Given the description of an element on the screen output the (x, y) to click on. 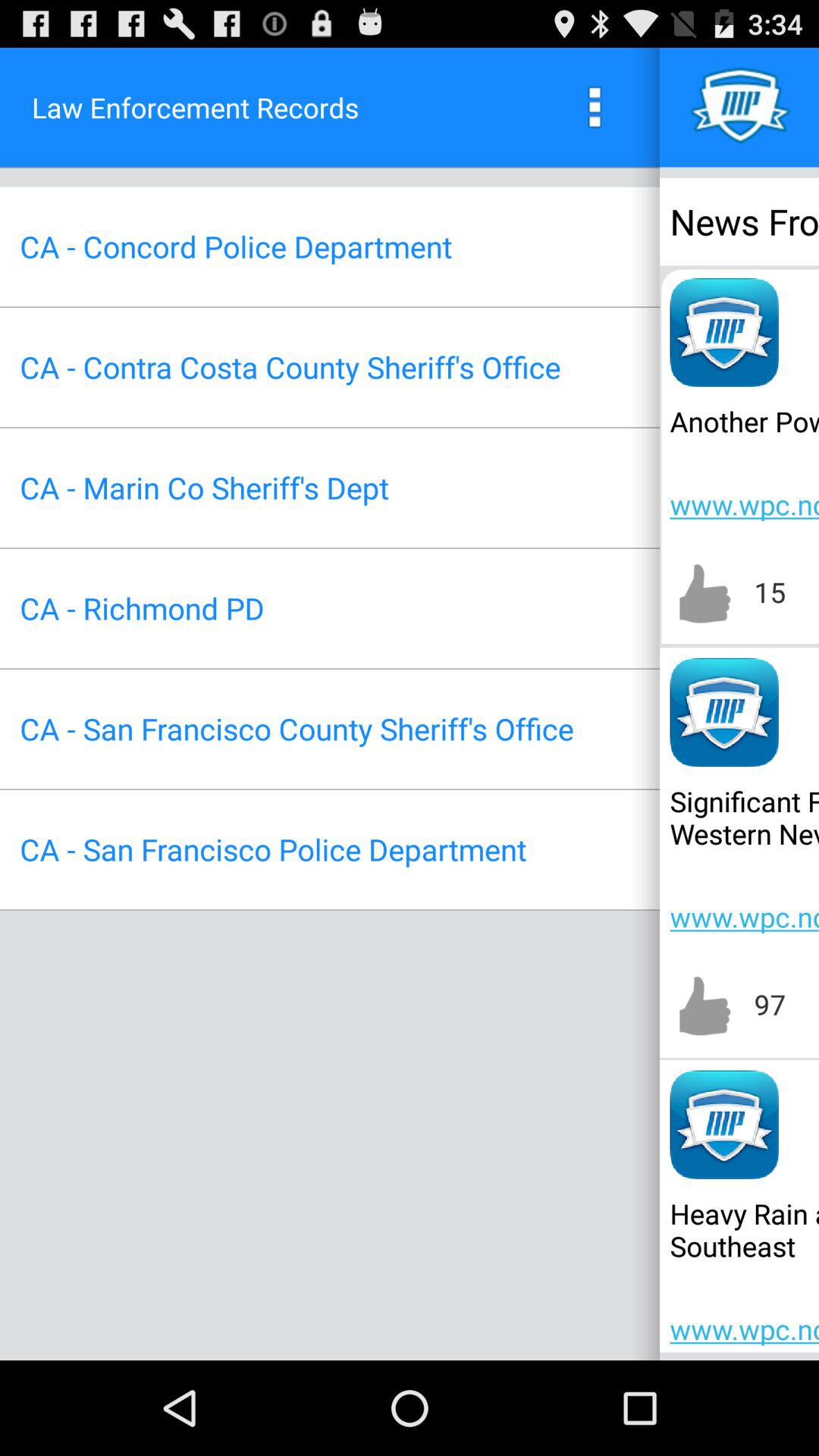
click icon above news from icon (739, 107)
